Given the description of an element on the screen output the (x, y) to click on. 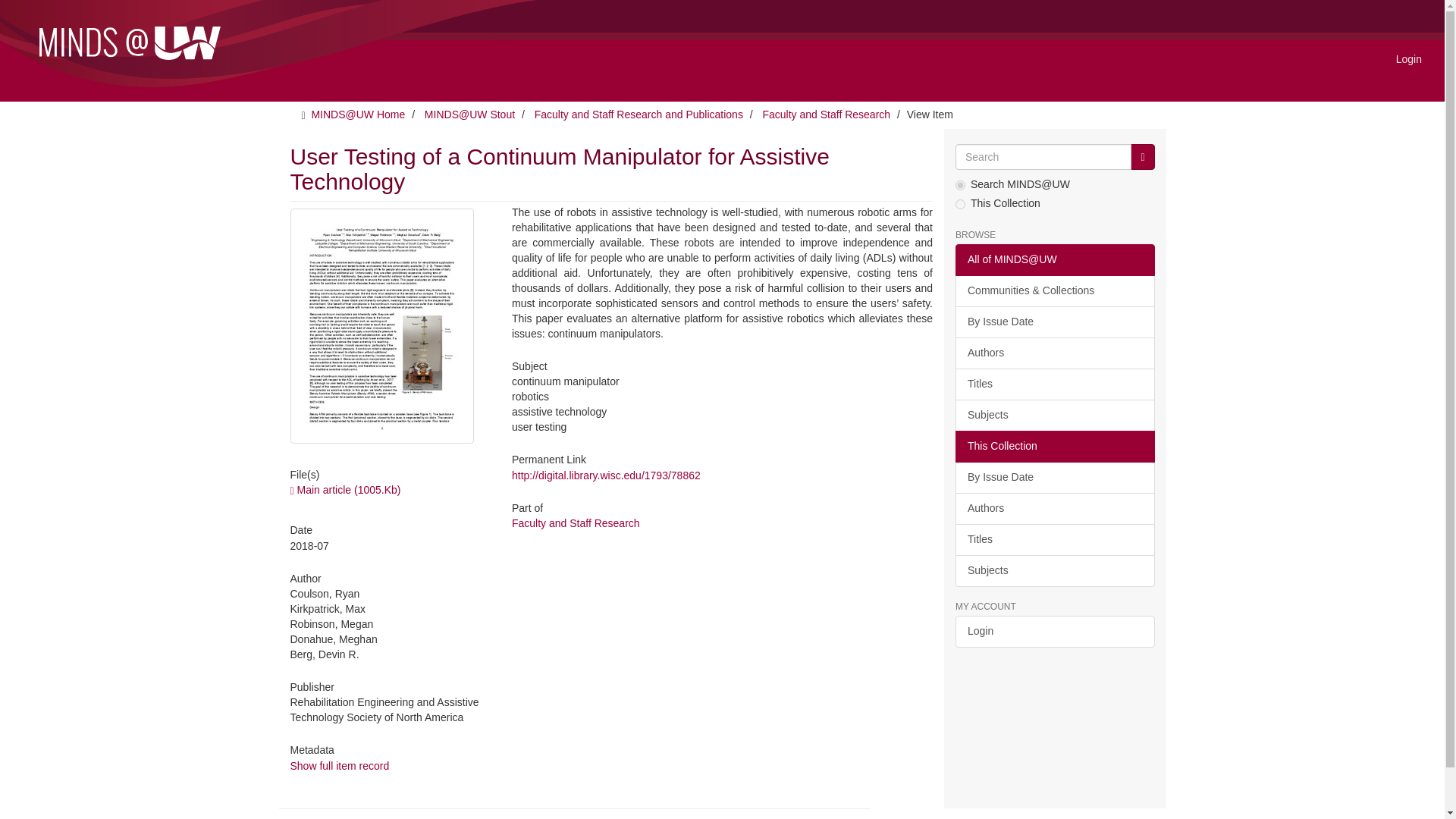
Titles (1054, 384)
Titles (1054, 540)
By Issue Date (1054, 322)
By Issue Date (1054, 477)
Faculty and Staff Research and Publications (638, 114)
Login (1408, 58)
Go (1142, 156)
Show full item record (338, 766)
Faculty and Staff Research (576, 522)
Authors (1054, 508)
